Given the description of an element on the screen output the (x, y) to click on. 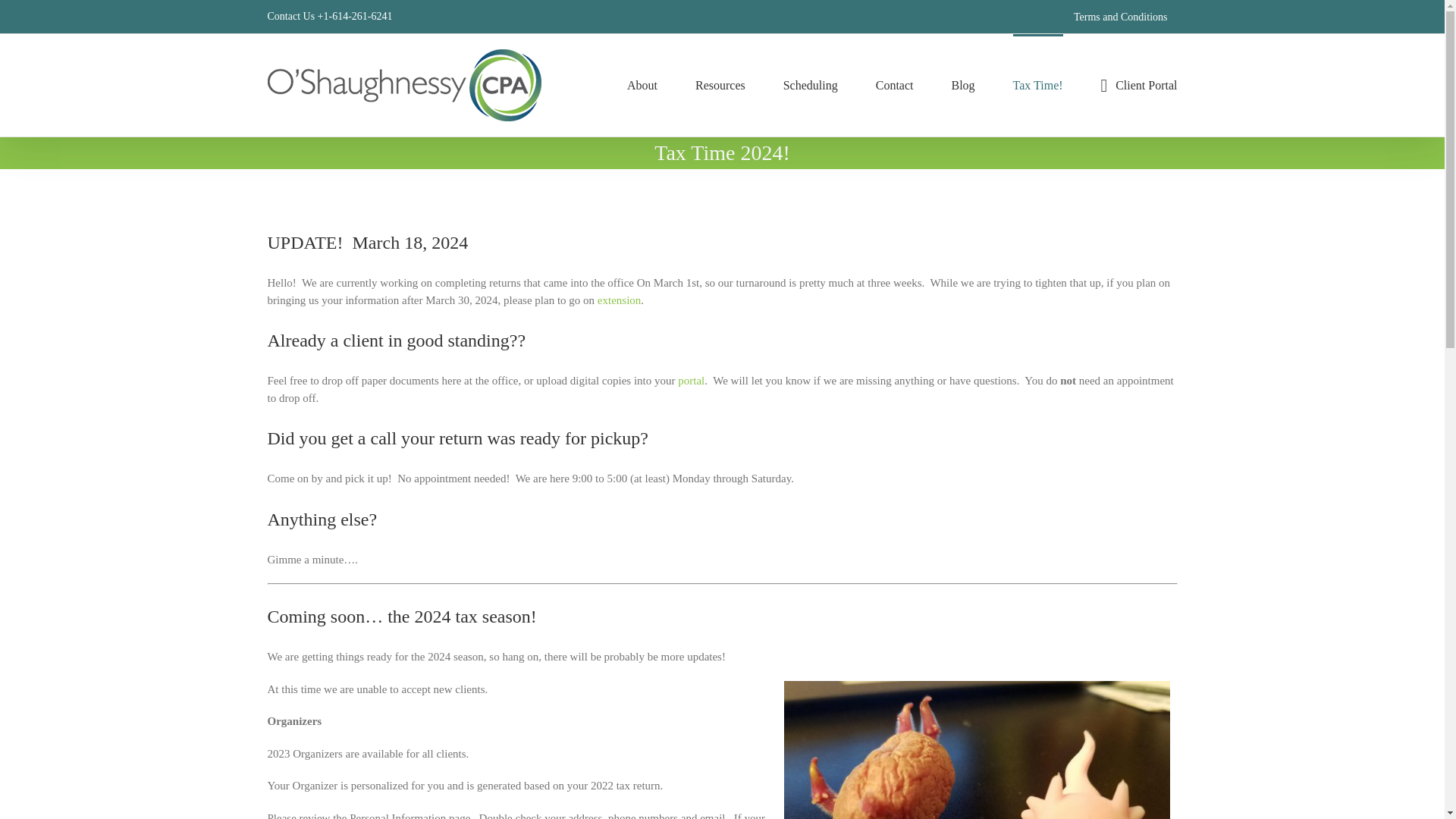
portal (689, 380)
extension (619, 300)
Terms and Conditions (1120, 16)
